Given the description of an element on the screen output the (x, y) to click on. 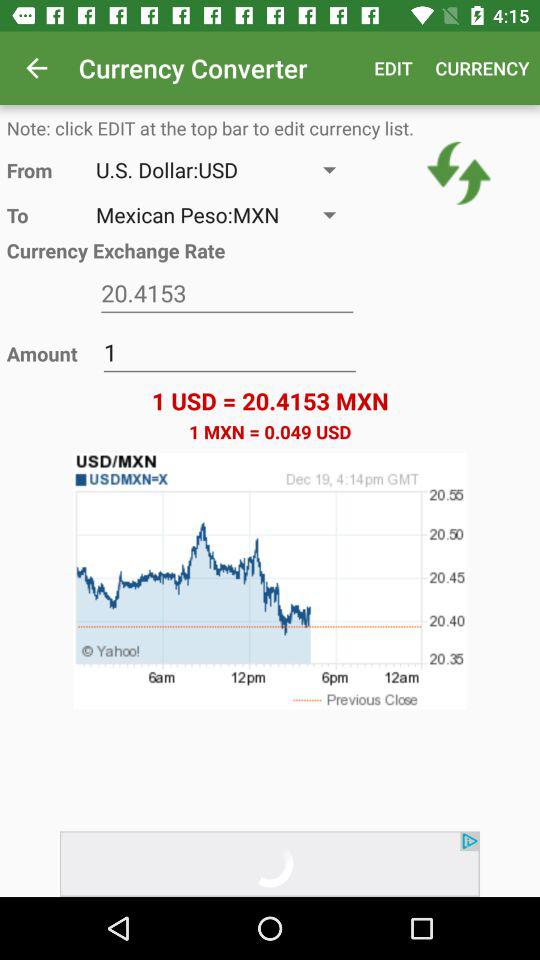
enter text (227, 293)
